Given the description of an element on the screen output the (x, y) to click on. 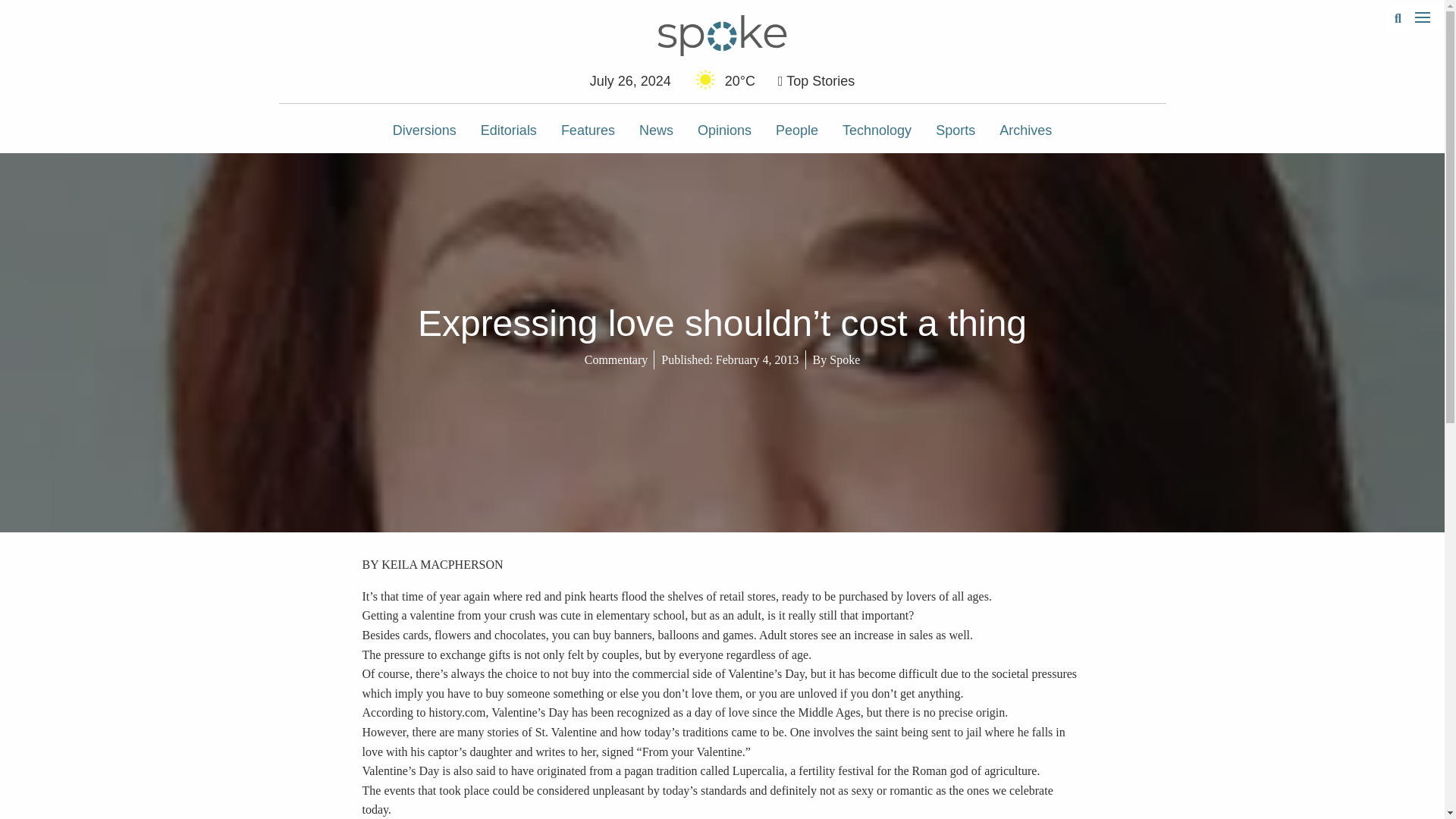
Commentary (616, 359)
Technology (876, 130)
Editorials (508, 130)
News (656, 130)
People (795, 130)
Archives (1025, 130)
Sports (955, 130)
Top Stories (815, 80)
Diversions (424, 130)
Spoke (844, 359)
Features (587, 130)
Opinions (723, 130)
